Given the description of an element on the screen output the (x, y) to click on. 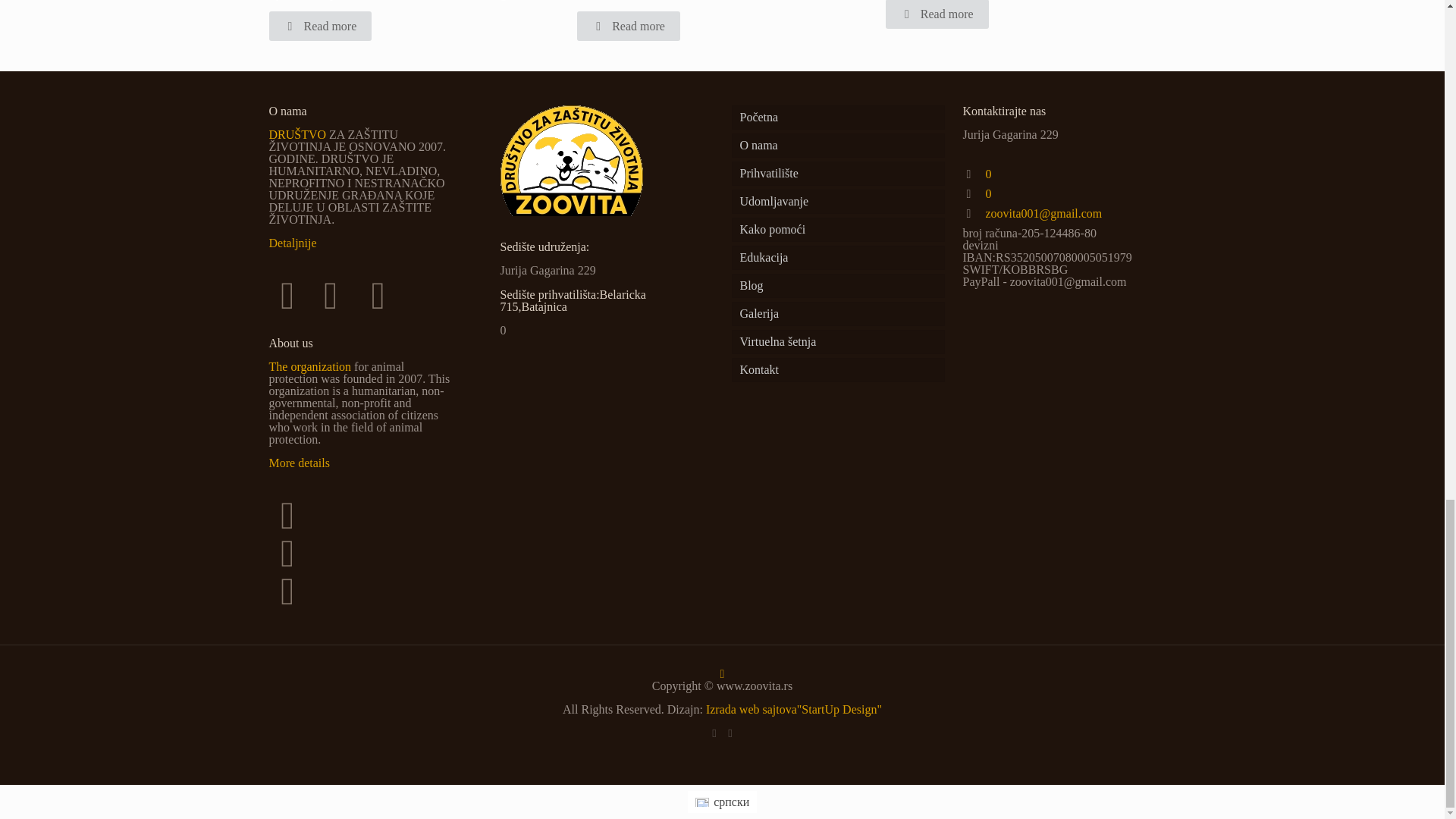
Instagram (730, 733)
Read more (936, 14)
Detaljnije (291, 242)
Read more (627, 25)
More details (298, 462)
O nama (836, 145)
Facebook (713, 733)
Read more (319, 25)
